Given the description of an element on the screen output the (x, y) to click on. 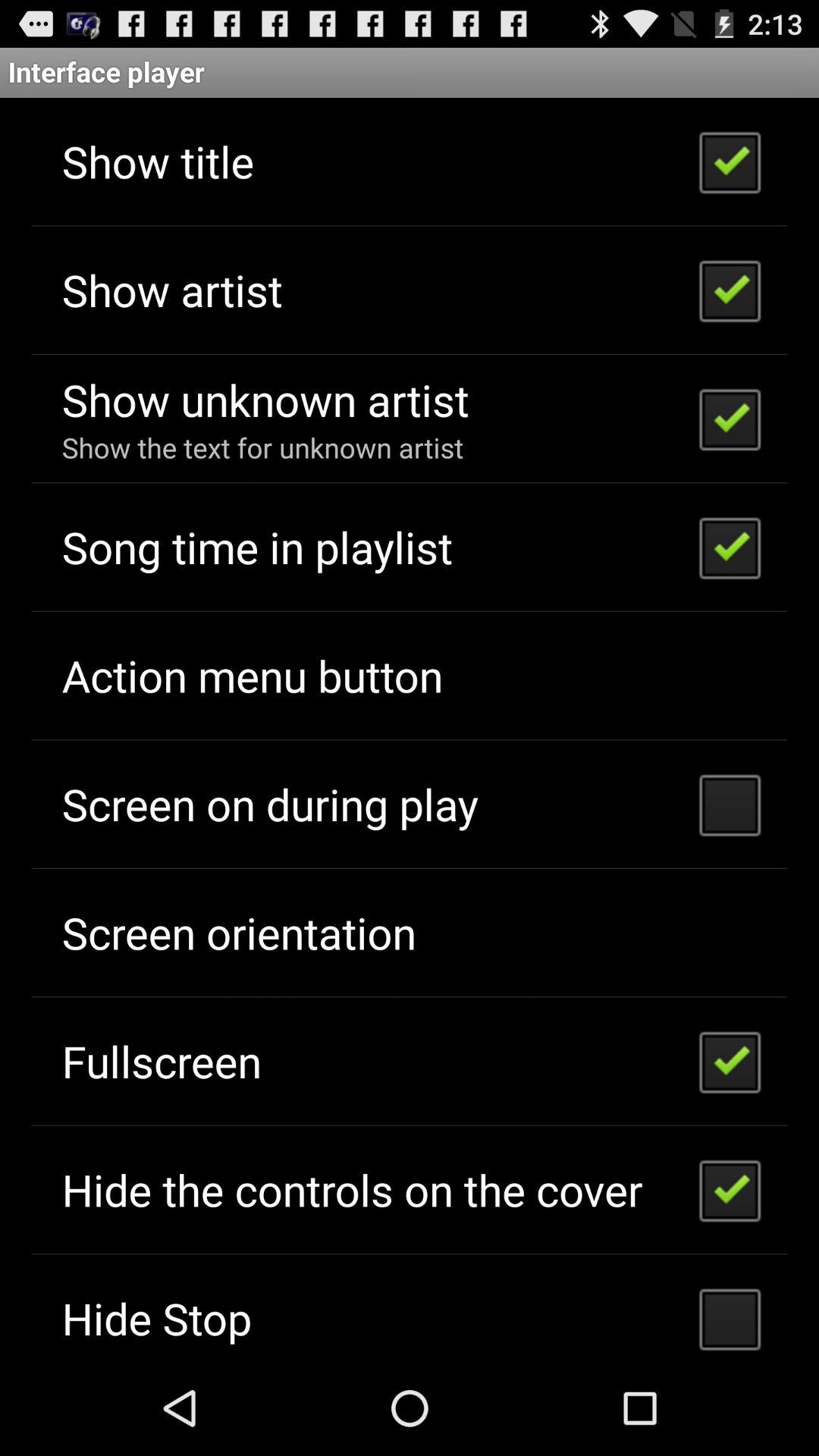
swipe until the show the text icon (262, 447)
